Given the description of an element on the screen output the (x, y) to click on. 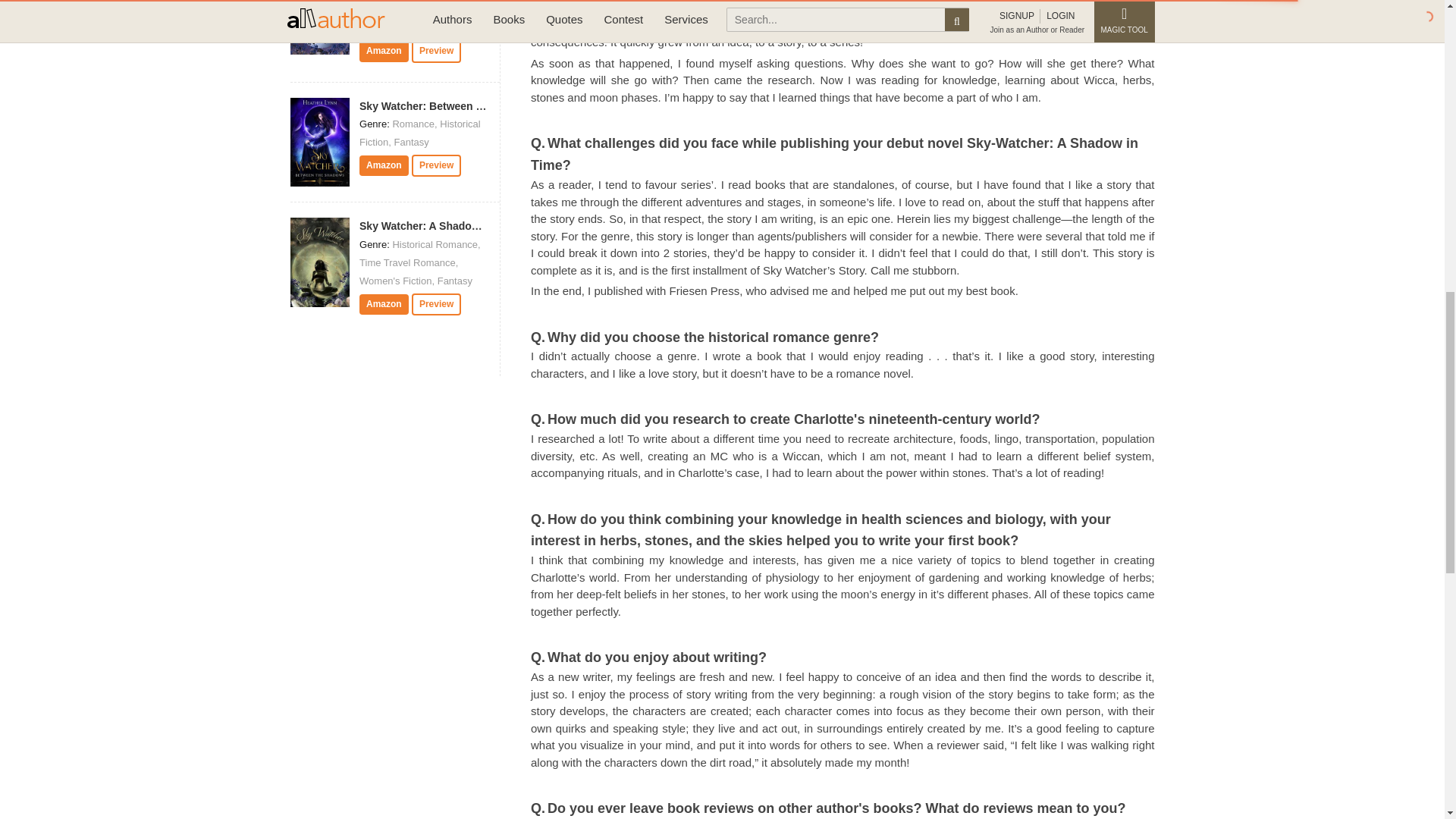
Sky Watcher: A Shadow in Time (439, 225)
Sky Watcher: Between The Shadows (451, 105)
